Given the description of an element on the screen output the (x, y) to click on. 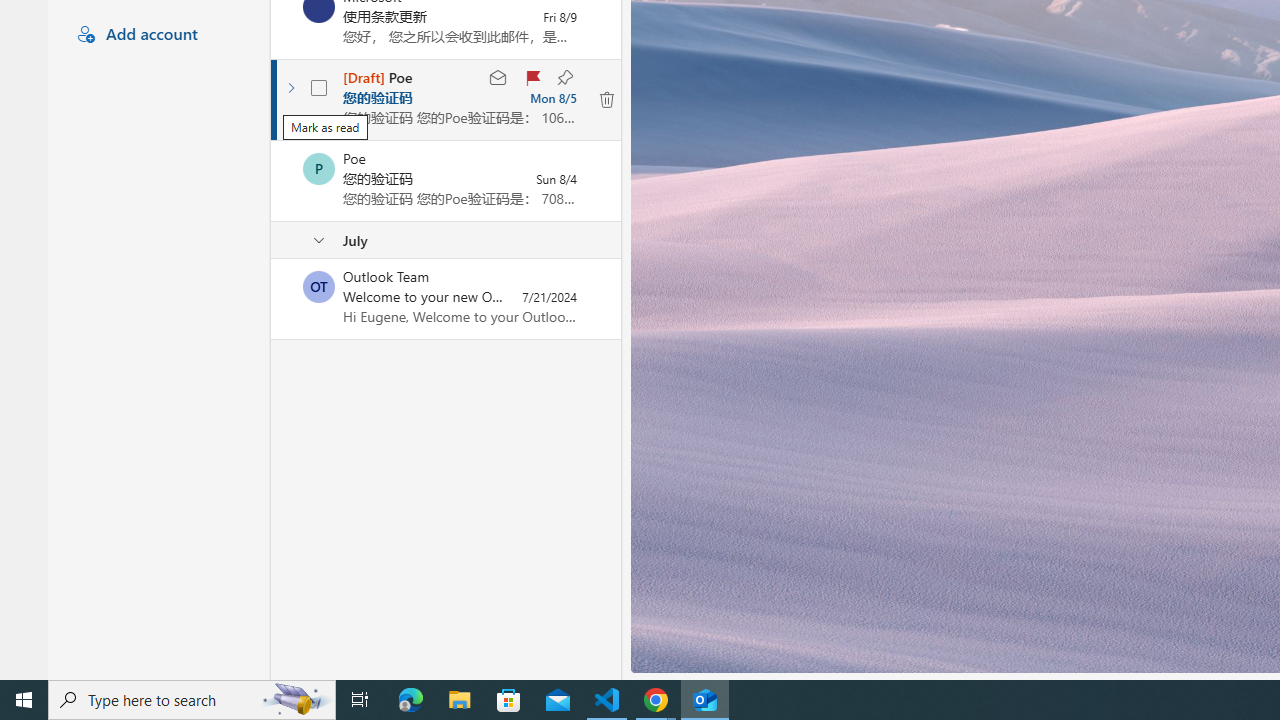
Class: Z0dEQ IKEiQ (606, 99)
Poe (319, 168)
Outlook Team (319, 286)
Mark as read (497, 78)
Class: KBPxt hn2lg (606, 99)
Keep this message at the top of your folder (564, 78)
Expand conversation (291, 88)
Unflag this message (530, 78)
Select a conversation (319, 286)
AutomationID: checkbox-205 (319, 87)
Mark as unread (273, 299)
